Given the description of an element on the screen output the (x, y) to click on. 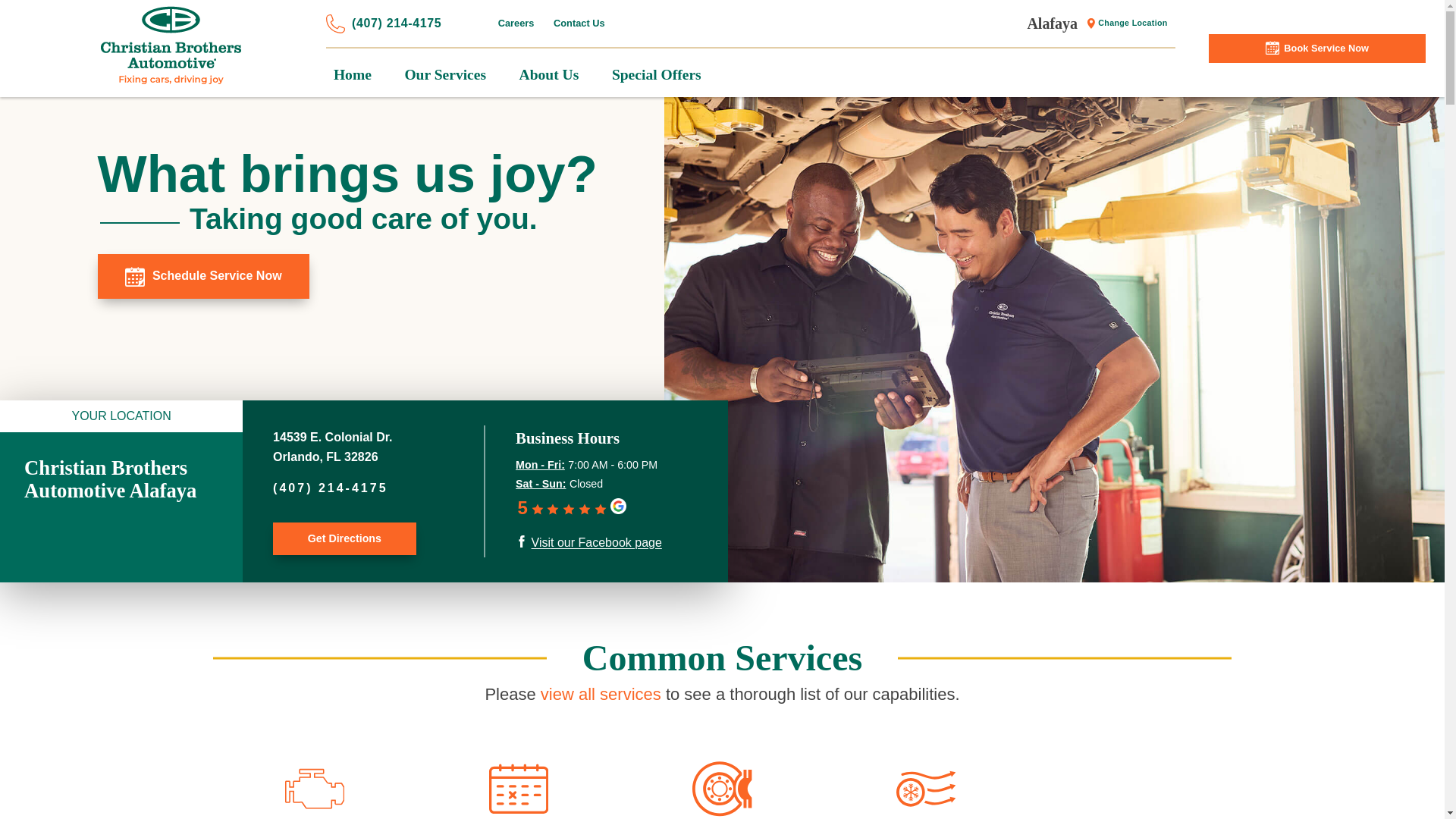
Our Services (445, 74)
Contact Us (578, 23)
Christian Brothers Automotive (170, 45)
Home (352, 74)
Careers (520, 23)
Change Location (1125, 23)
